Given the description of an element on the screen output the (x, y) to click on. 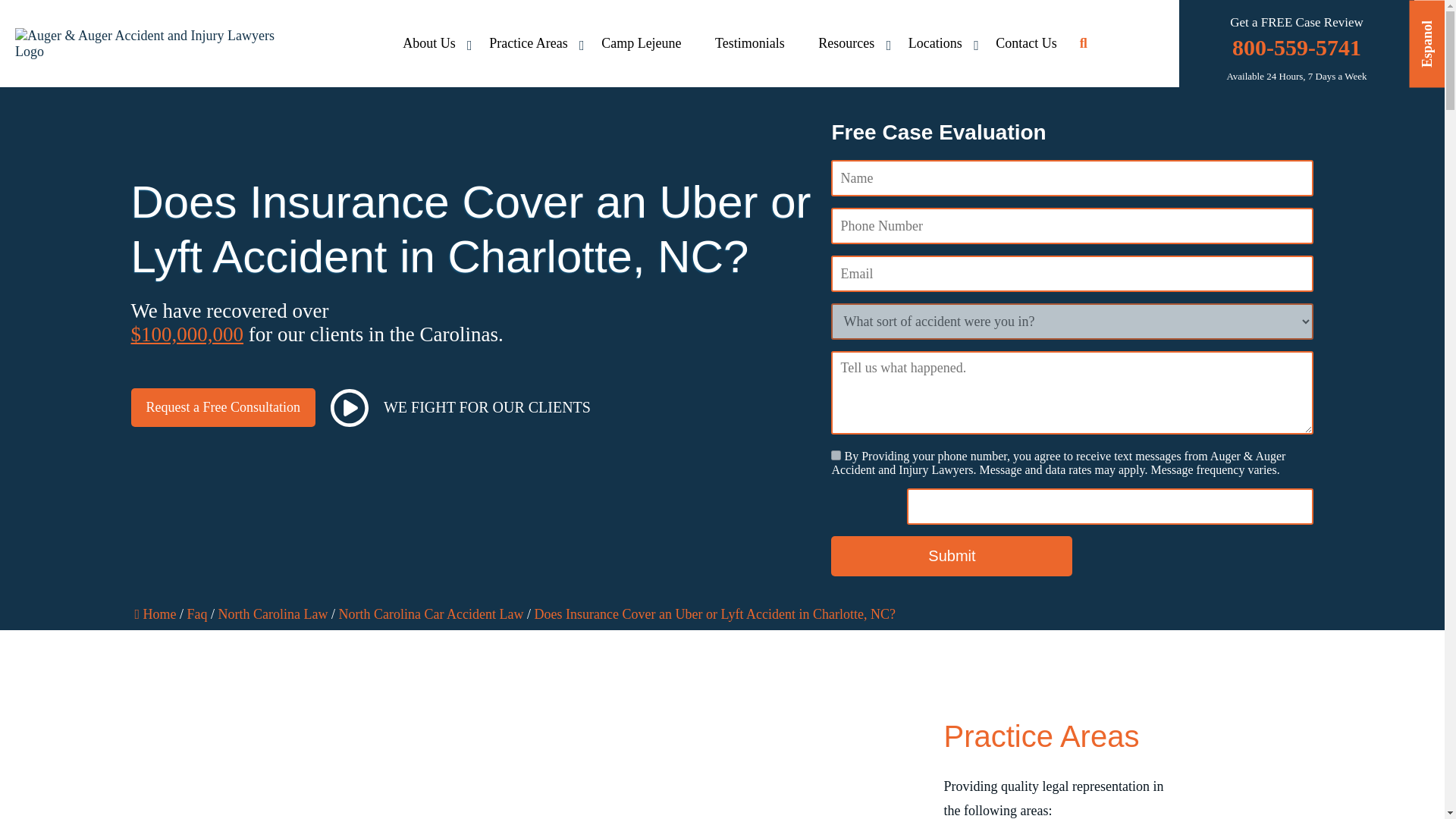
Practice Areas (528, 43)
Resources (846, 43)
Camp Lejeune (640, 43)
How to Recover Damages in Uber or Lyft Accidents? (563, 747)
About Us (428, 43)
1 (836, 455)
Testimonials (749, 43)
Submit (951, 556)
